Given the description of an element on the screen output the (x, y) to click on. 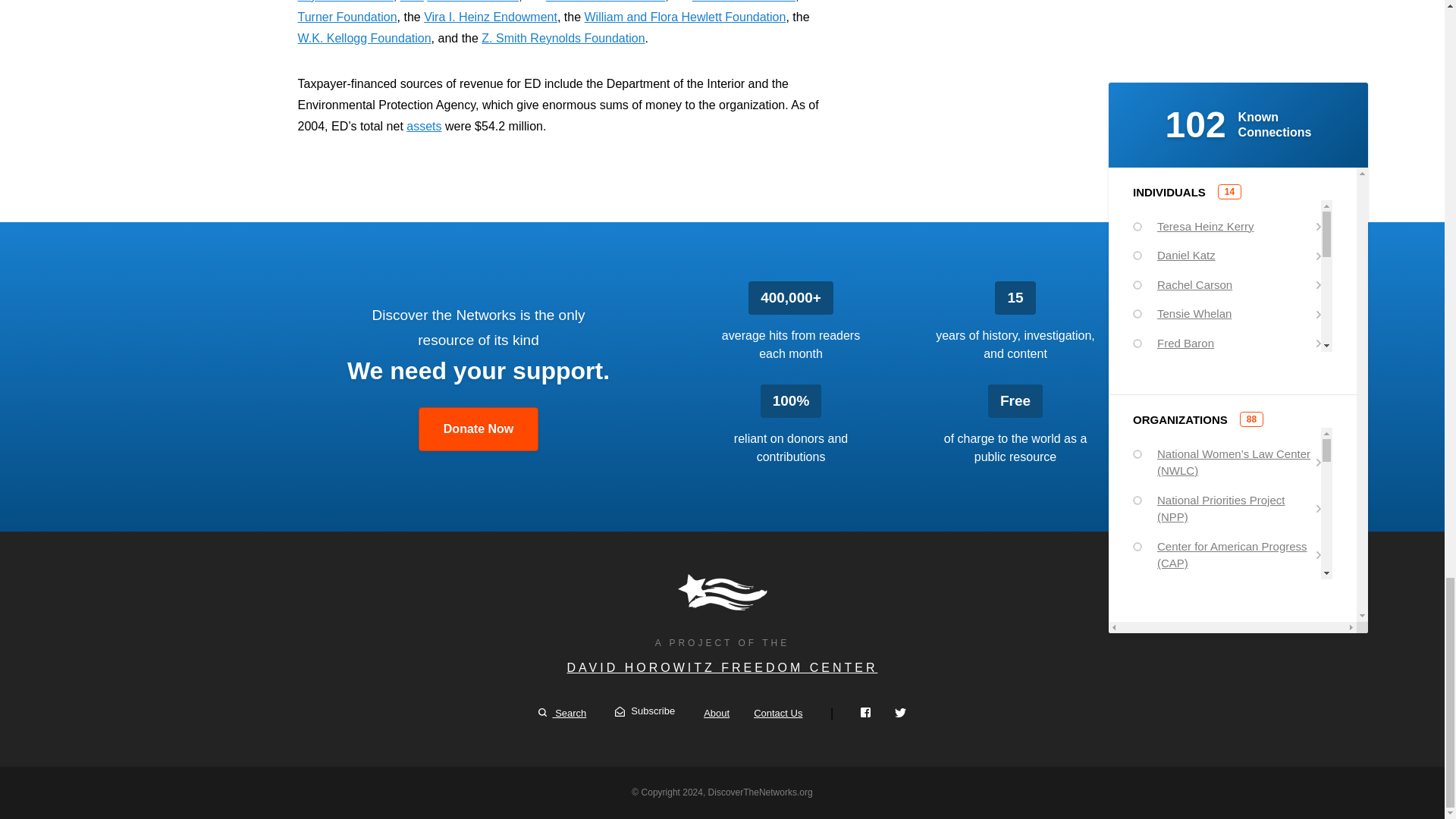
Scherman Foundation (605, 1)
Pew (411, 1)
Z. Smith Reynolds Foundation (563, 38)
William and Flora Hewlett Foundation (684, 16)
assets (423, 125)
W.K. Kellogg Foundation (363, 38)
Surdna Foundation (743, 1)
Vira I. Heinz Endowment (490, 16)
Turner Foundation (346, 16)
Joyce Foundation (345, 1)
Charitable Trusts (472, 1)
